Given the description of an element on the screen output the (x, y) to click on. 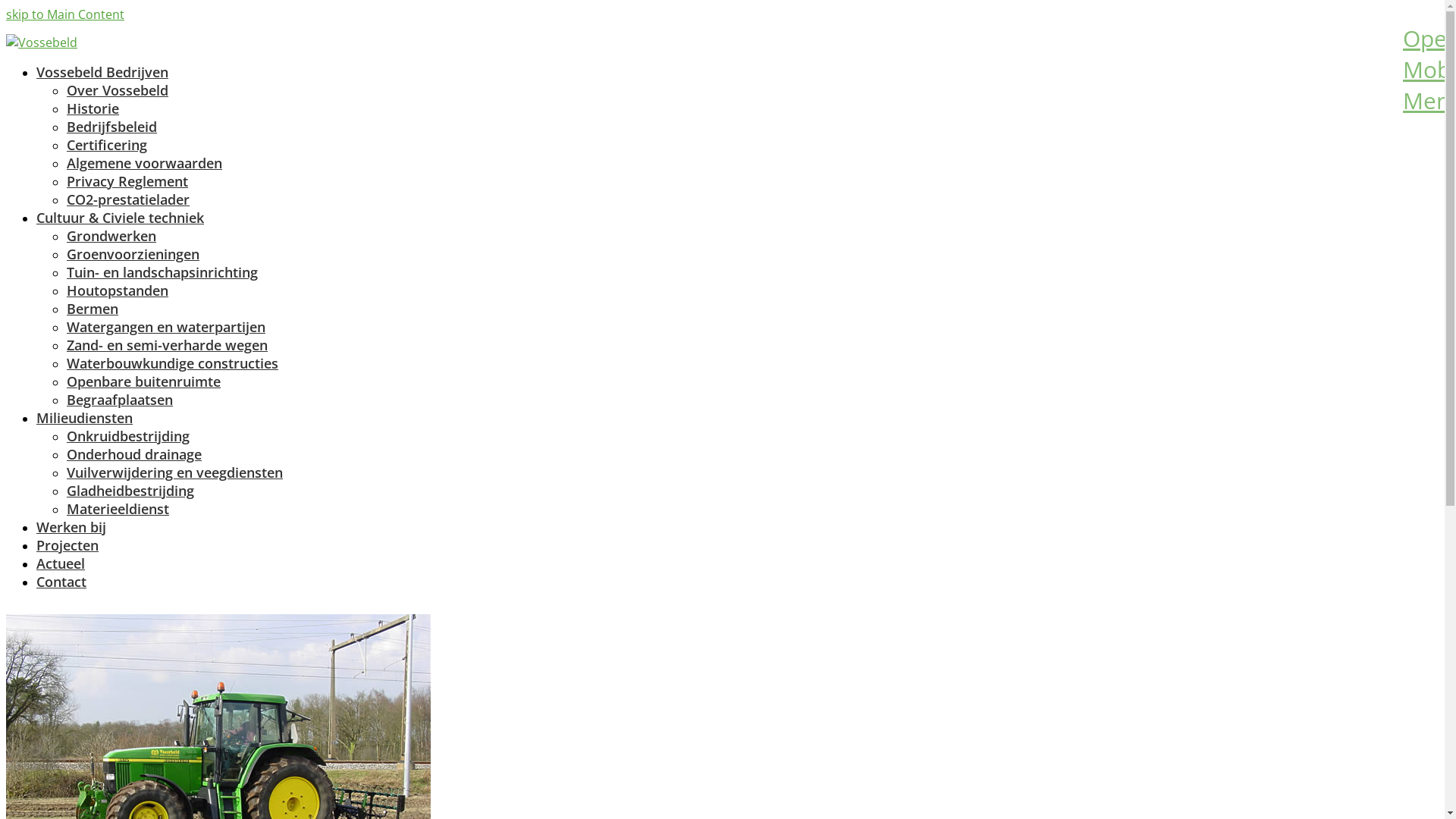
Milieudiensten Element type: text (84, 417)
Algemene voorwaarden Element type: text (144, 162)
Vossebeld Bedrijven Element type: text (102, 71)
Bedrijfsbeleid Element type: text (111, 126)
Houtopstanden Element type: text (117, 290)
Contact Element type: text (61, 581)
skip to Main Content Element type: text (65, 14)
Waterbouwkundige constructies Element type: text (172, 363)
Onderhoud drainage Element type: text (133, 454)
Vossebeld Element type: hover (41, 42)
Historie Element type: text (92, 108)
Watergangen en waterpartijen Element type: text (165, 326)
Projecten Element type: text (67, 545)
Openbare buitenruimte Element type: text (143, 381)
CO2-prestatielader Element type: text (127, 199)
Groenvoorzieningen Element type: text (132, 253)
Vuilverwijdering en veegdiensten Element type: text (174, 472)
Zand- en semi-verharde wegen Element type: text (166, 344)
Privacy Reglement Element type: text (127, 181)
Tuin- en landschapsinrichting Element type: text (161, 272)
Gladheidbestrijding Element type: text (130, 490)
Grondwerken Element type: text (111, 235)
Materieeldienst Element type: text (117, 508)
Certificering Element type: text (106, 144)
Over Vossebeld Element type: text (117, 90)
Cultuur & Civiele techniek Element type: text (119, 217)
Bermen Element type: text (92, 308)
Werken bij Element type: text (71, 526)
Actueel Element type: text (60, 563)
Onkruidbestrijding Element type: text (127, 435)
Begraafplaatsen Element type: text (119, 399)
Open Mobile Menu Element type: text (1415, 35)
